Given the description of an element on the screen output the (x, y) to click on. 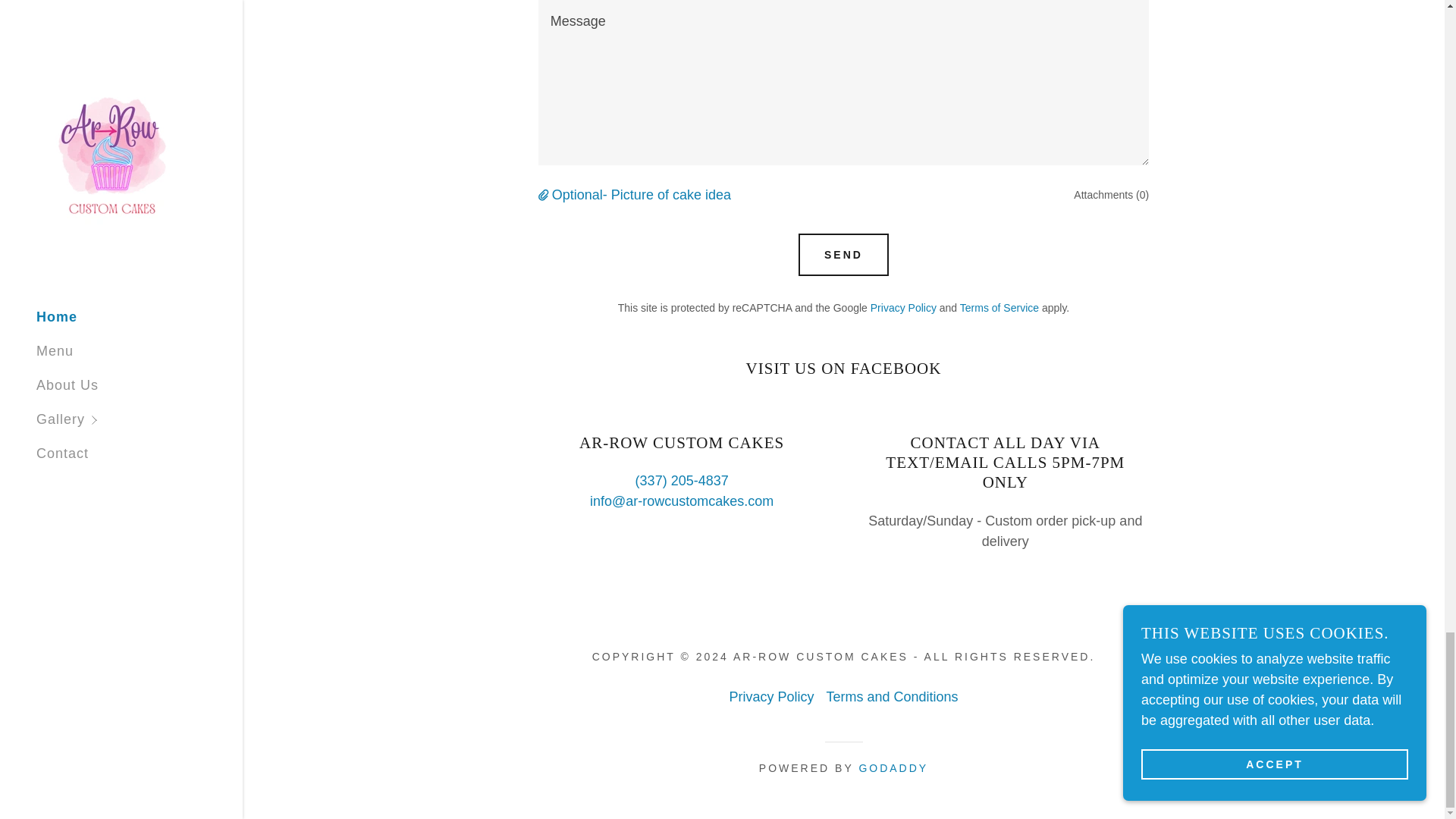
Privacy Policy (770, 697)
Terms and Conditions (891, 697)
Terms of Service (999, 307)
GODADDY (893, 767)
Privacy Policy (903, 307)
SEND (842, 254)
